Given the description of an element on the screen output the (x, y) to click on. 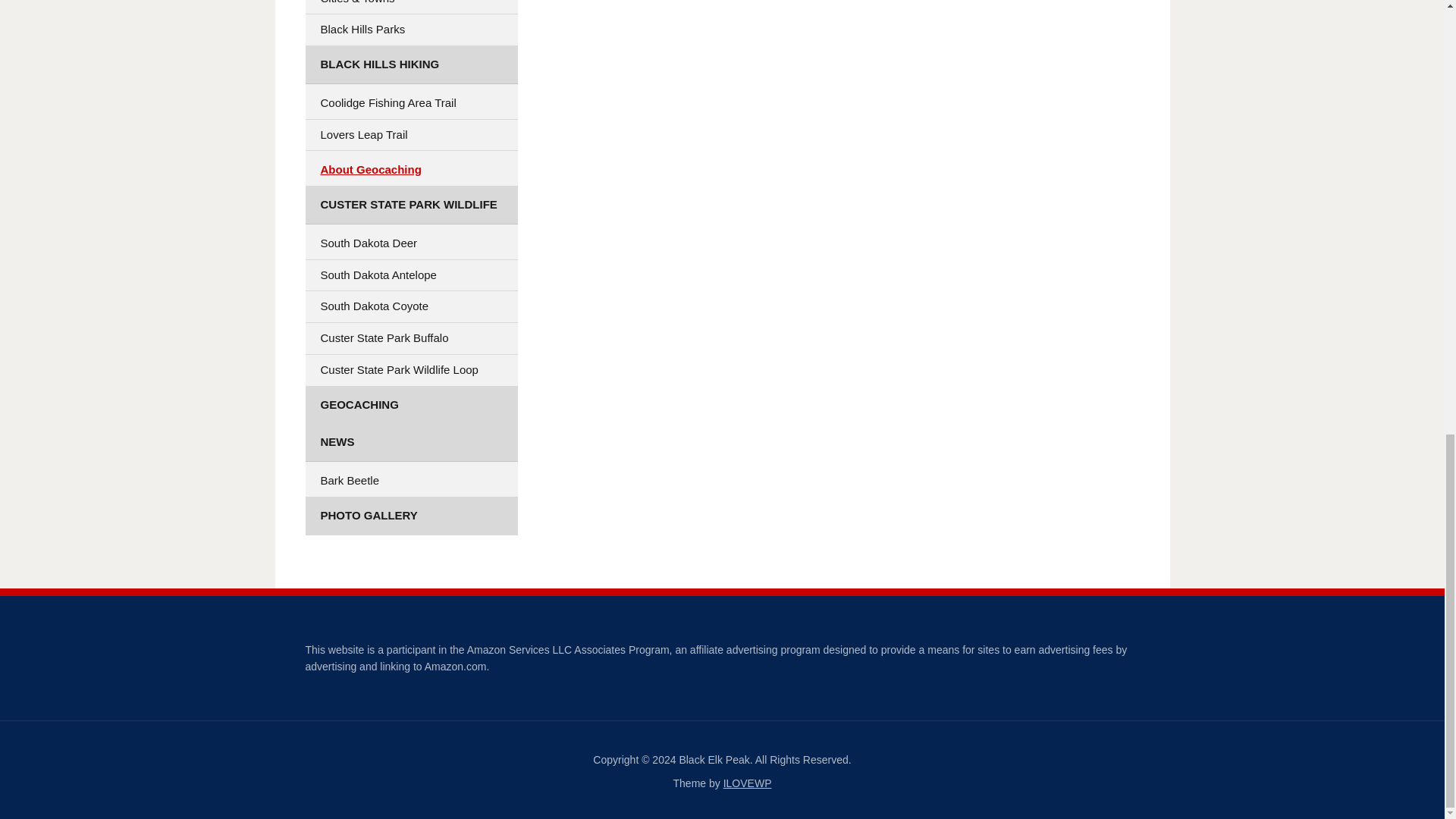
South Dakota Deer (410, 243)
BLACK HILLS HIKING (410, 64)
About Geocaching (410, 169)
Coolidge Fishing Area Trail (410, 102)
Bark Beetle (410, 481)
Lovers Leap Trail (410, 135)
South Dakota Coyote (410, 306)
CUSTER STATE PARK WILDLIFE (410, 205)
Custer State Park Buffalo (410, 337)
Custer State Park Wildlife Loop (410, 369)
South Dakota Antelope (410, 275)
NEWS (410, 442)
Black Hills Parks (410, 29)
GEOCACHING (410, 405)
PHOTO GALLERY (410, 515)
